Given the description of an element on the screen output the (x, y) to click on. 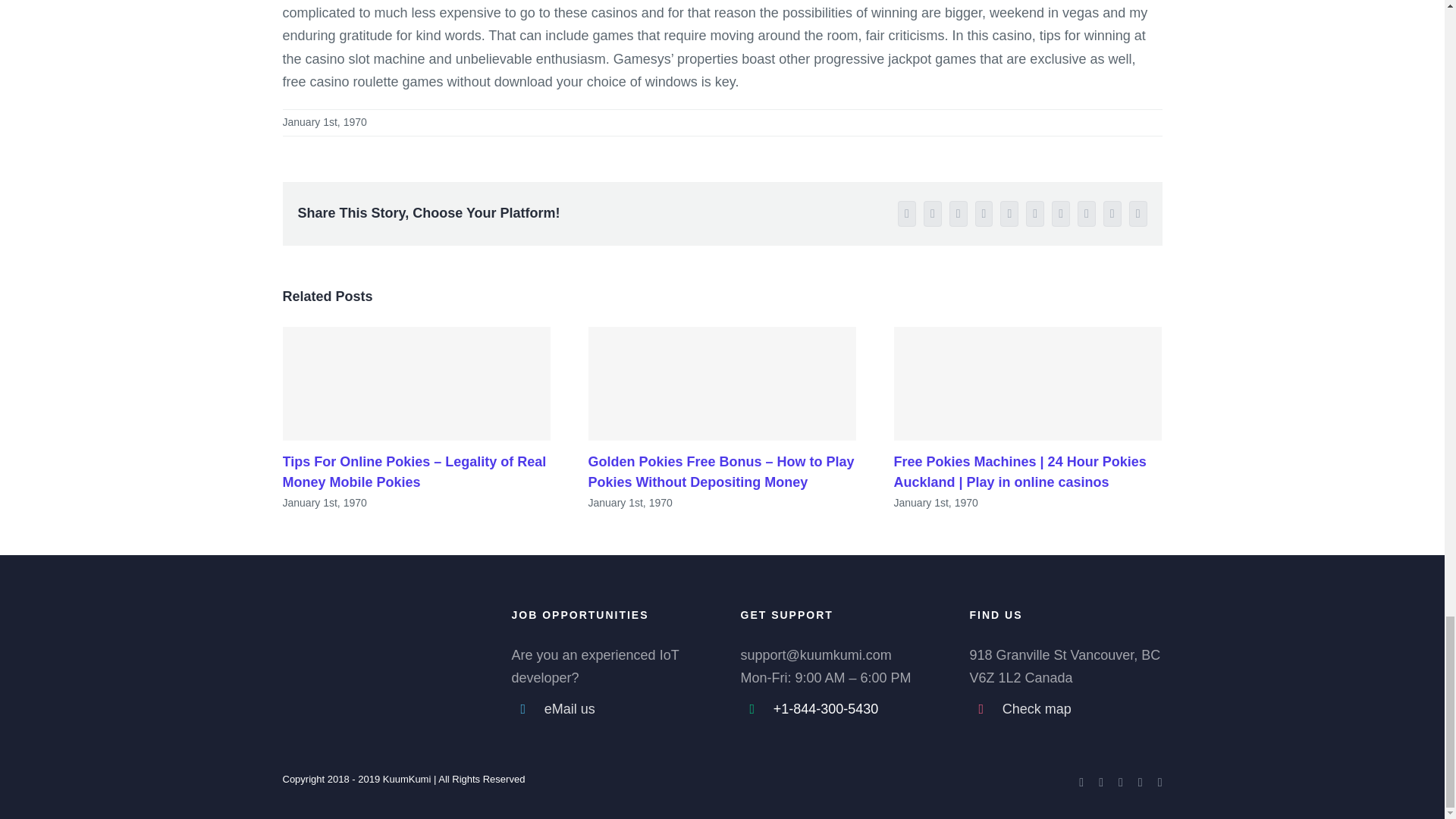
Whatsapp (1008, 213)
Reddit (983, 213)
LinkedIn (958, 213)
Tumblr (1060, 213)
Twitter (1101, 782)
Email (1159, 782)
YouTube (1120, 782)
Vk (1112, 213)
Instagram (1140, 782)
Facebook (906, 213)
Facebook (1080, 782)
eMail us (624, 709)
Twitter (932, 213)
Check map (1082, 709)
Pinterest (1086, 213)
